Given the description of an element on the screen output the (x, y) to click on. 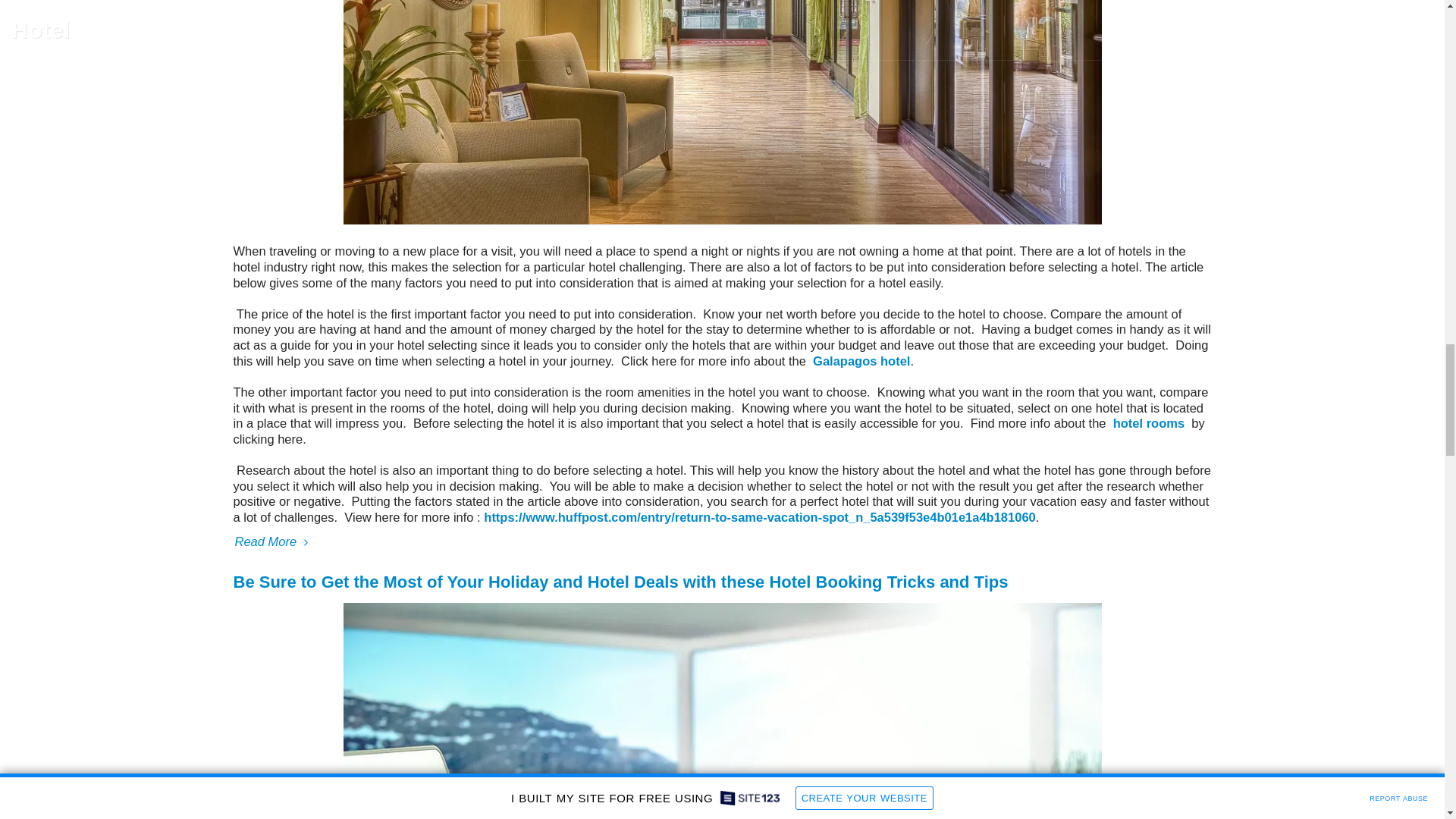
hotel rooms (1149, 422)
Galapagos hotel (861, 360)
Read More   (721, 542)
